Given the description of an element on the screen output the (x, y) to click on. 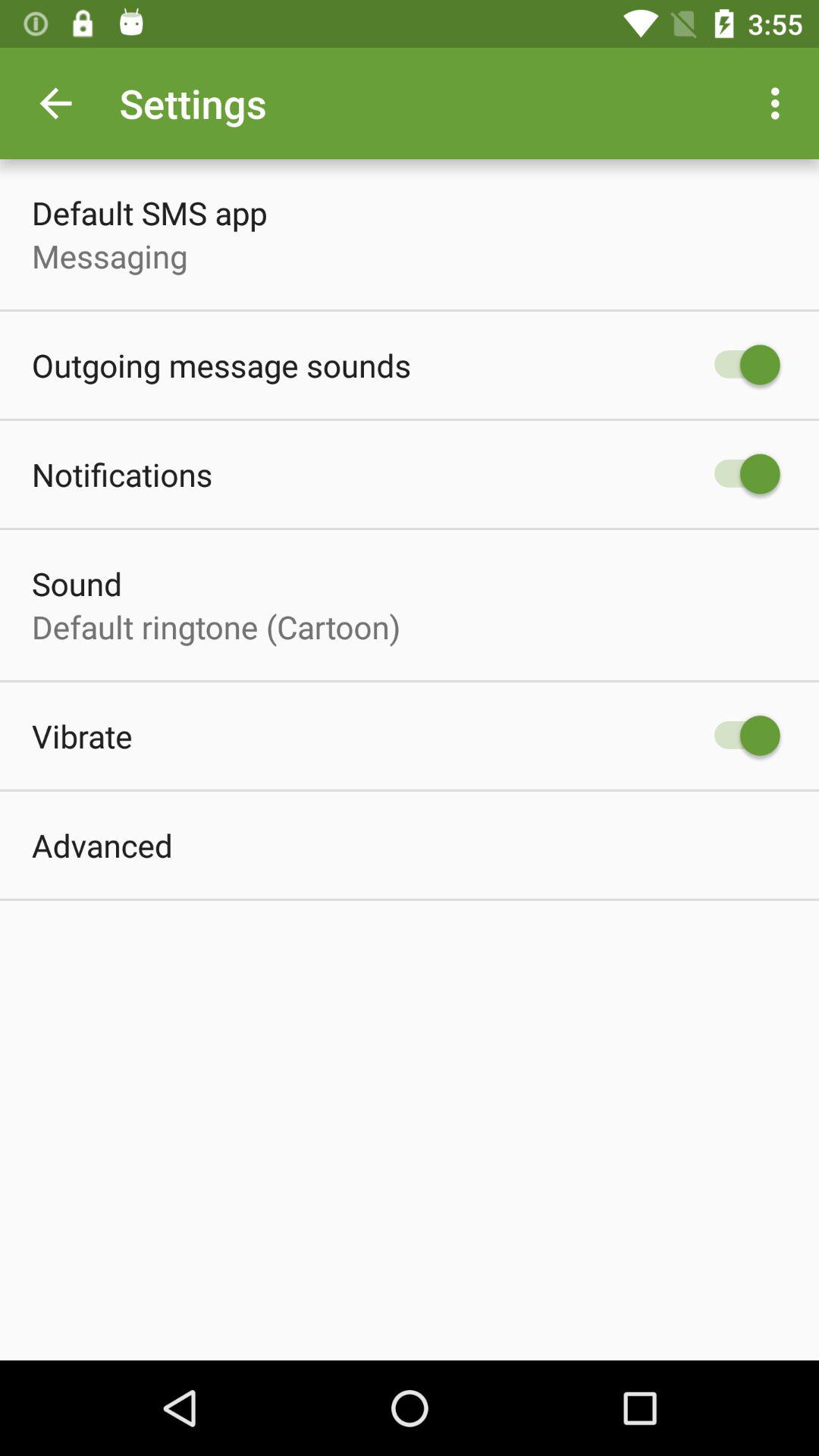
click item above the outgoing message sounds item (109, 255)
